Given the description of an element on the screen output the (x, y) to click on. 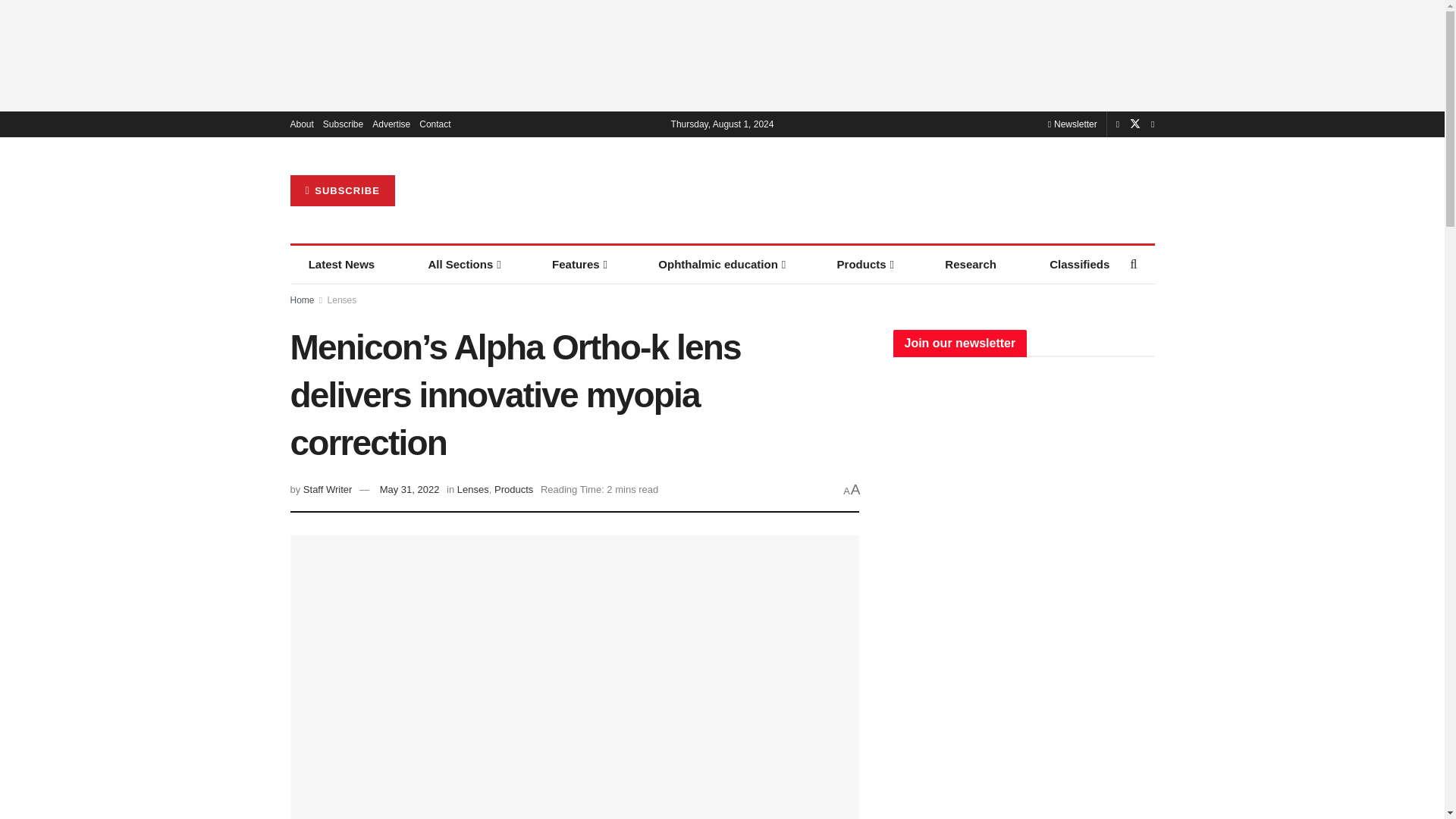
About (301, 124)
Contact (434, 124)
Latest News (341, 264)
SUBSCRIBE (341, 190)
All Sections (462, 264)
Subscribe (342, 124)
Newsletter (1072, 123)
Advertise (391, 124)
